Given the description of an element on the screen output the (x, y) to click on. 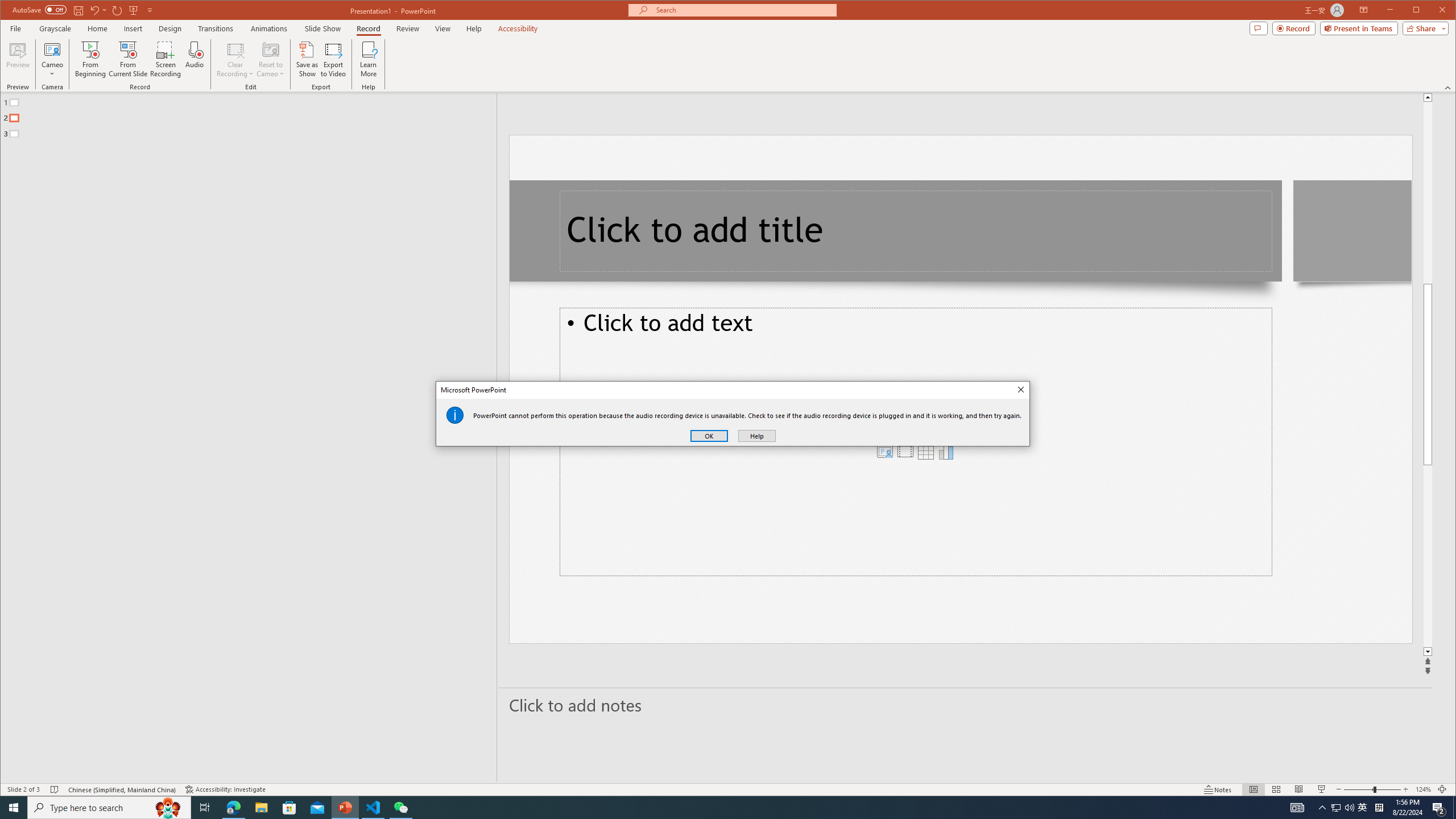
Screen Recording (165, 59)
OK (709, 435)
